Given the description of an element on the screen output the (x, y) to click on. 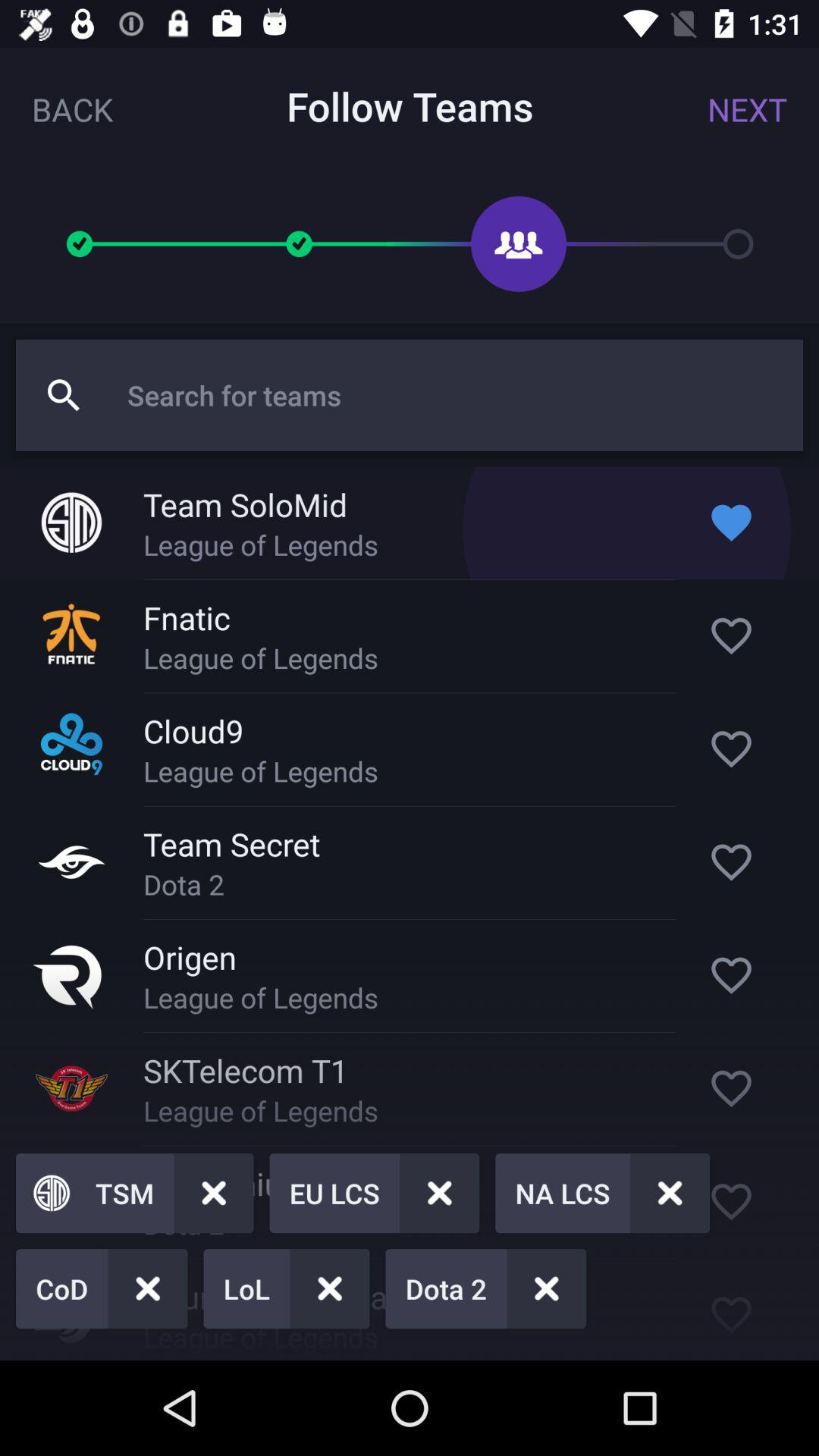
press the next (747, 108)
